Given the description of an element on the screen output the (x, y) to click on. 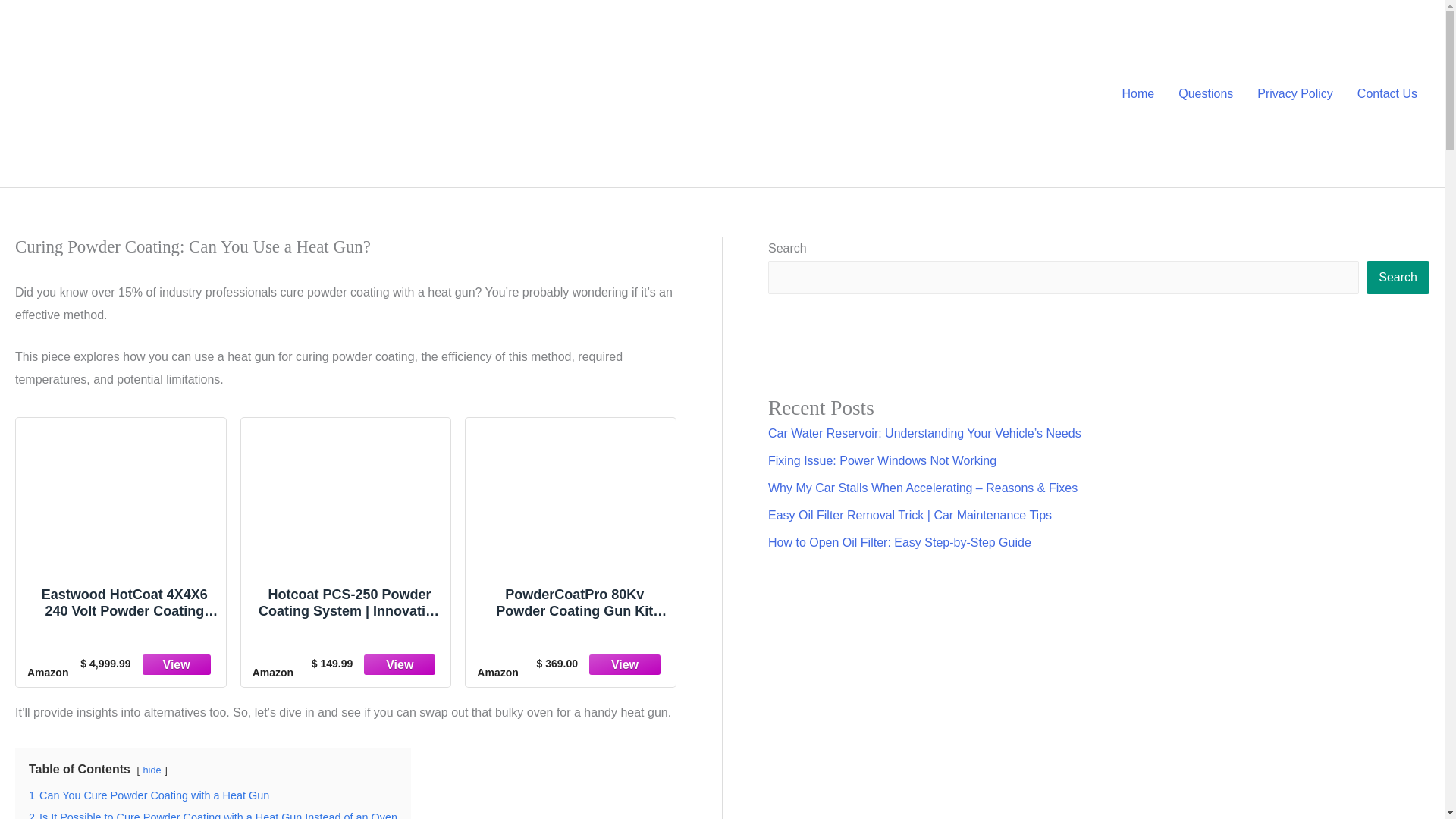
Questions (1205, 92)
Fixing Issue: Power Windows Not Working (881, 460)
hide (151, 769)
1 Can You Cure Powder Coating with a Heat Gun (149, 795)
Home (1138, 92)
Privacy Policy (1294, 92)
Contact Us (1387, 92)
Search (1398, 277)
